Given the description of an element on the screen output the (x, y) to click on. 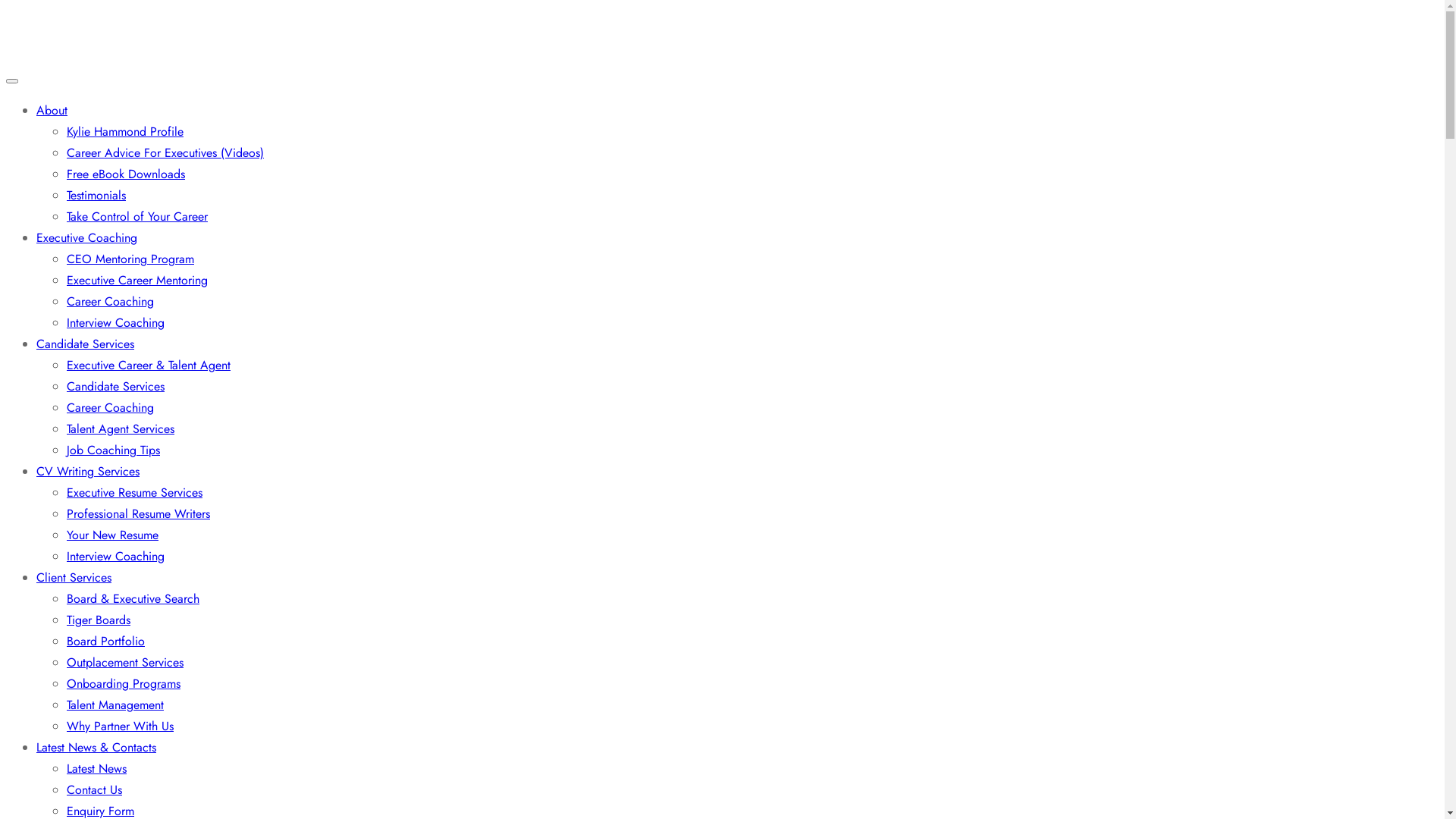
CV Writing Services Element type: text (87, 471)
Career Advice For Executives (Videos) Element type: text (164, 152)
Executive Coaching Element type: text (86, 237)
Professional Resume Writers Element type: text (138, 513)
Board & Executive Search Element type: text (132, 598)
Latest News Element type: text (96, 768)
Outplacement Services Element type: text (124, 662)
Career Coaching Element type: text (109, 301)
Board Portfolio Element type: text (105, 640)
Executive Resume Services Element type: text (134, 492)
Onboarding Programs Element type: text (123, 683)
Executive Career & Talent Agent Element type: text (148, 364)
Why Partner With Us Element type: text (119, 725)
Career Coaching Element type: text (109, 407)
Interview Coaching Element type: text (115, 555)
Testimonials Element type: text (95, 194)
About Element type: text (51, 110)
Job Coaching Tips Element type: text (113, 449)
Talent Agent Services Element type: text (120, 428)
Free eBook Downloads Element type: text (125, 173)
Client Services Element type: text (73, 577)
Candidate Services Element type: text (85, 343)
Tiger Boards Element type: text (98, 619)
Candidate Services Element type: text (115, 386)
Your New Resume Element type: text (112, 534)
Latest News & Contacts Element type: text (96, 747)
Take Control of Your Career Element type: text (136, 216)
CEO Mentoring Program Element type: text (130, 258)
Kylie Hammond Profile Element type: text (124, 131)
Interview Coaching Element type: text (115, 322)
Talent Management Element type: text (114, 704)
Contact Us Element type: text (94, 789)
Executive Career Mentoring Element type: text (136, 279)
